Given the description of an element on the screen output the (x, y) to click on. 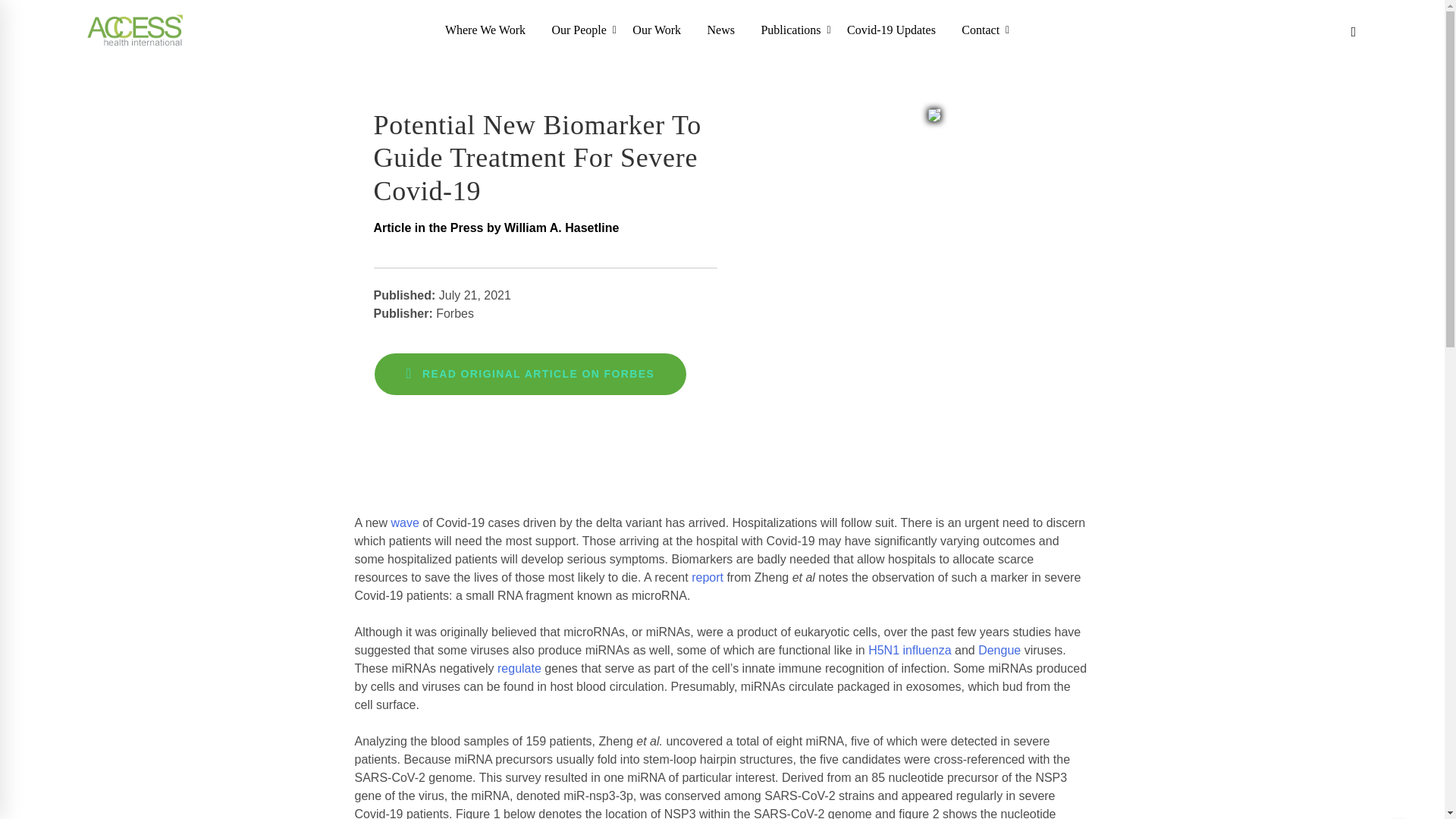
regulate (519, 667)
Our Work (657, 29)
wave (405, 522)
H5N1 influenza (908, 649)
Where We Work (485, 29)
Dengue (999, 649)
READ ORIGINAL ARTICLE ON FORBES (530, 373)
report (707, 576)
News (720, 29)
Covid-19 Updates (891, 29)
